Given the description of an element on the screen output the (x, y) to click on. 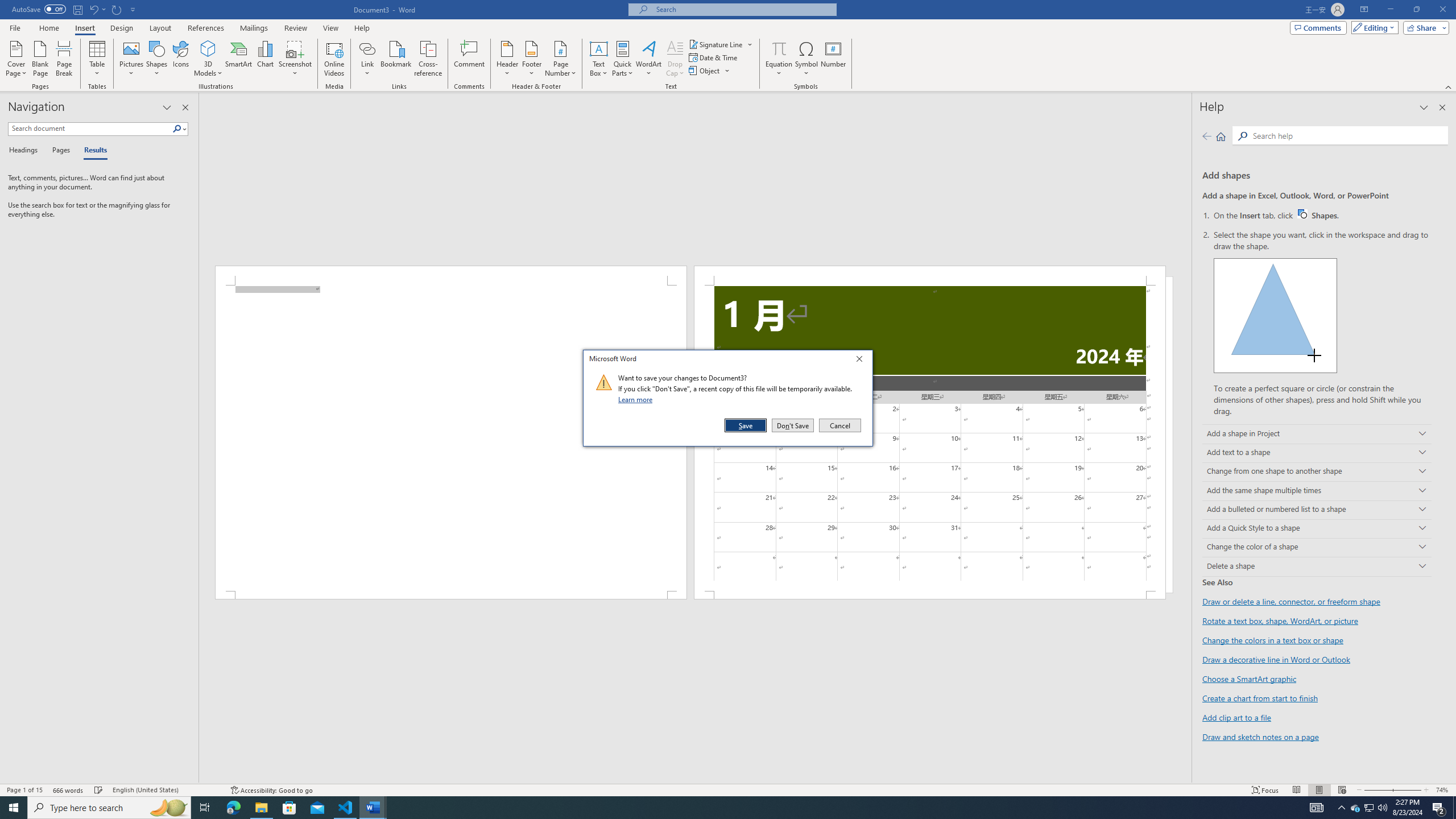
Bookmark... (396, 58)
Page Number Page 1 of 15 (24, 790)
Add clip art to a file (1355, 807)
3D Models (1236, 717)
Accessibility Checker Accessibility: Good to go (208, 48)
Spelling and Grammar Check Checking (271, 790)
